Given the description of an element on the screen output the (x, y) to click on. 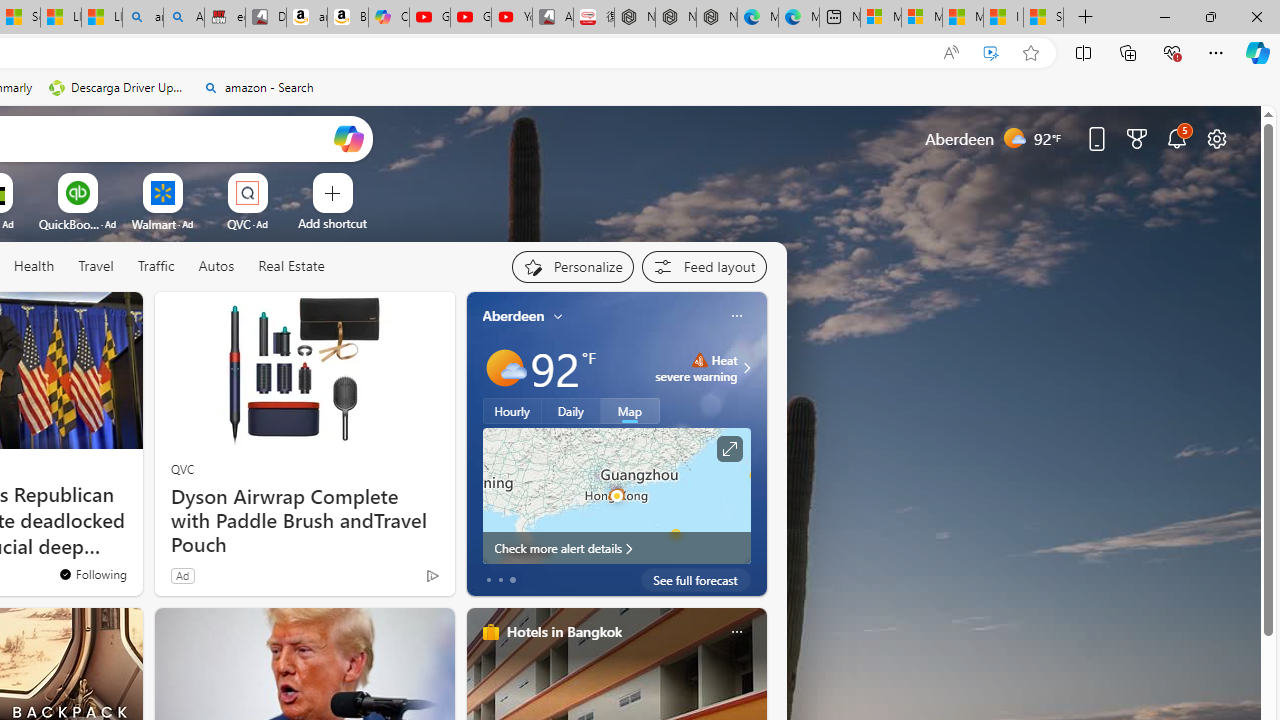
Split screen (1083, 52)
Open Copilot (347, 138)
New Tab (1085, 17)
Hide this story (82, 315)
previous (476, 443)
amazon.in/dp/B0CX59H5W7/?tag=gsmcom05-21 (306, 17)
Close (1256, 16)
My location (558, 315)
Read aloud this page (Ctrl+Shift+U) (950, 53)
Notifications (1176, 138)
Ad Choice (432, 575)
Real Estate (290, 267)
